Given the description of an element on the screen output the (x, y) to click on. 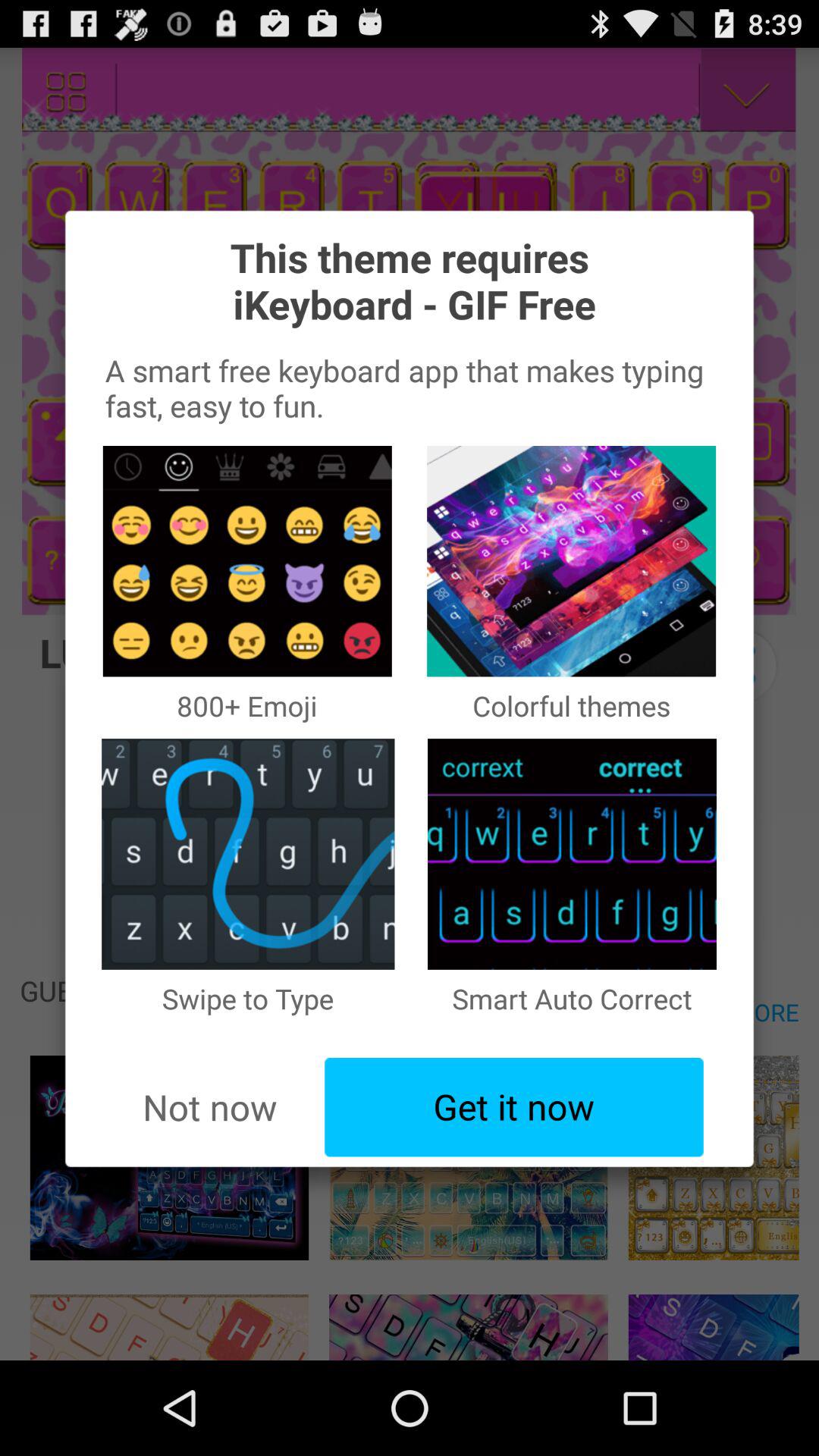
tap the item below the swipe to type icon (513, 1106)
